Given the description of an element on the screen output the (x, y) to click on. 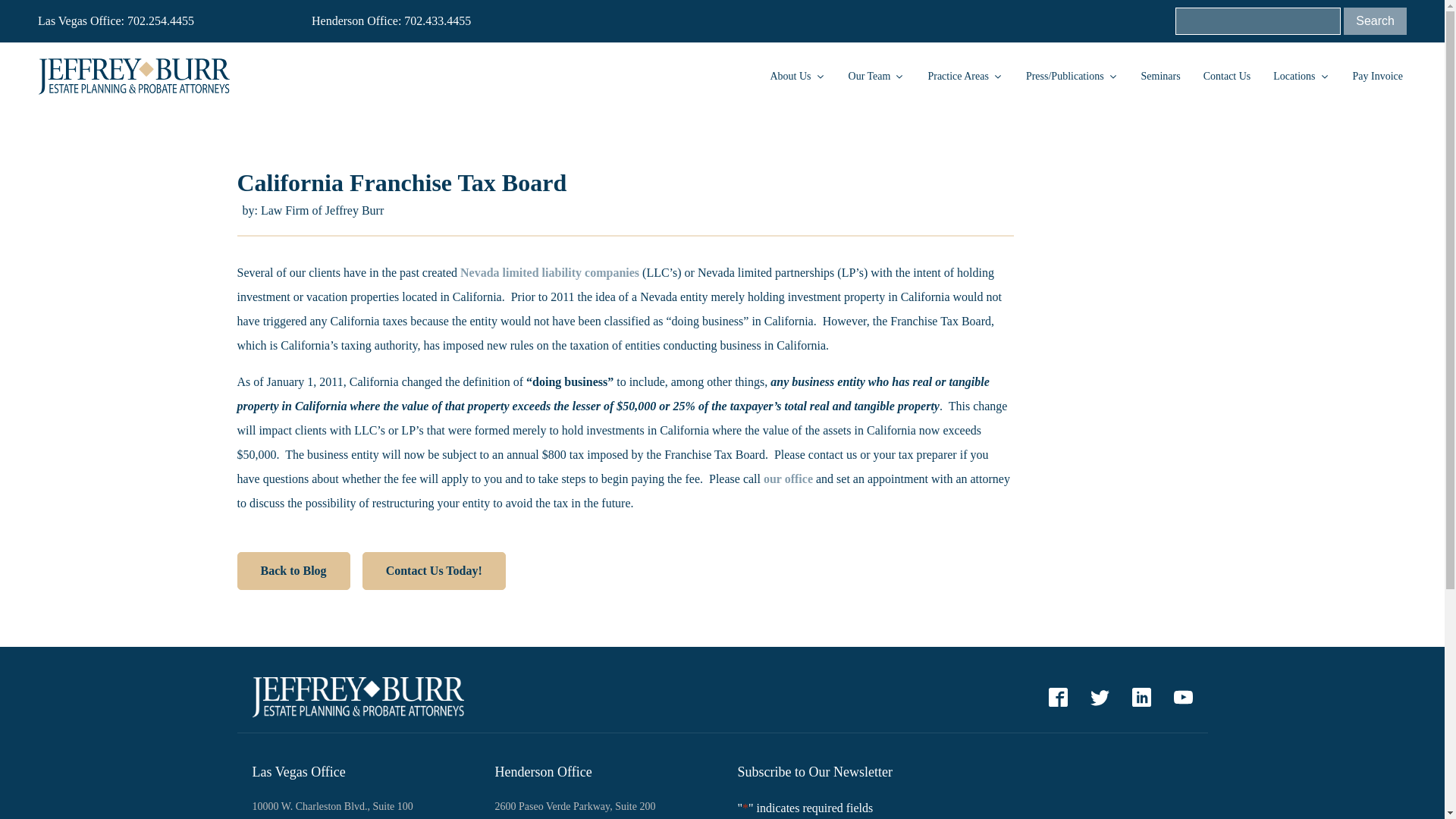
Search (1374, 21)
702.254.4455 (160, 21)
702.433.4455 (437, 21)
About Us (796, 76)
Practice Areas (964, 76)
Our Team (877, 76)
Search (1374, 21)
